Given the description of an element on the screen output the (x, y) to click on. 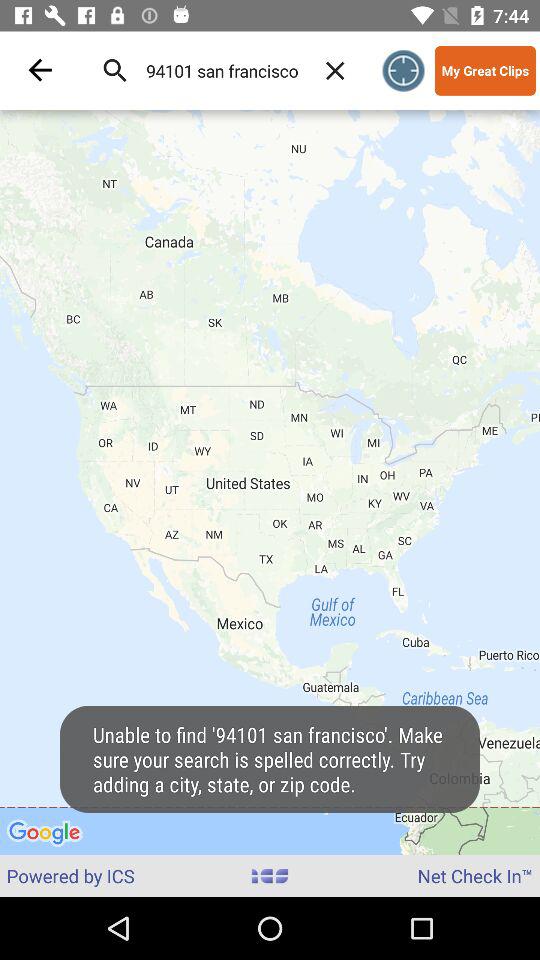
open the icon to the right of 94101 san francisco item (335, 70)
